Given the description of an element on the screen output the (x, y) to click on. 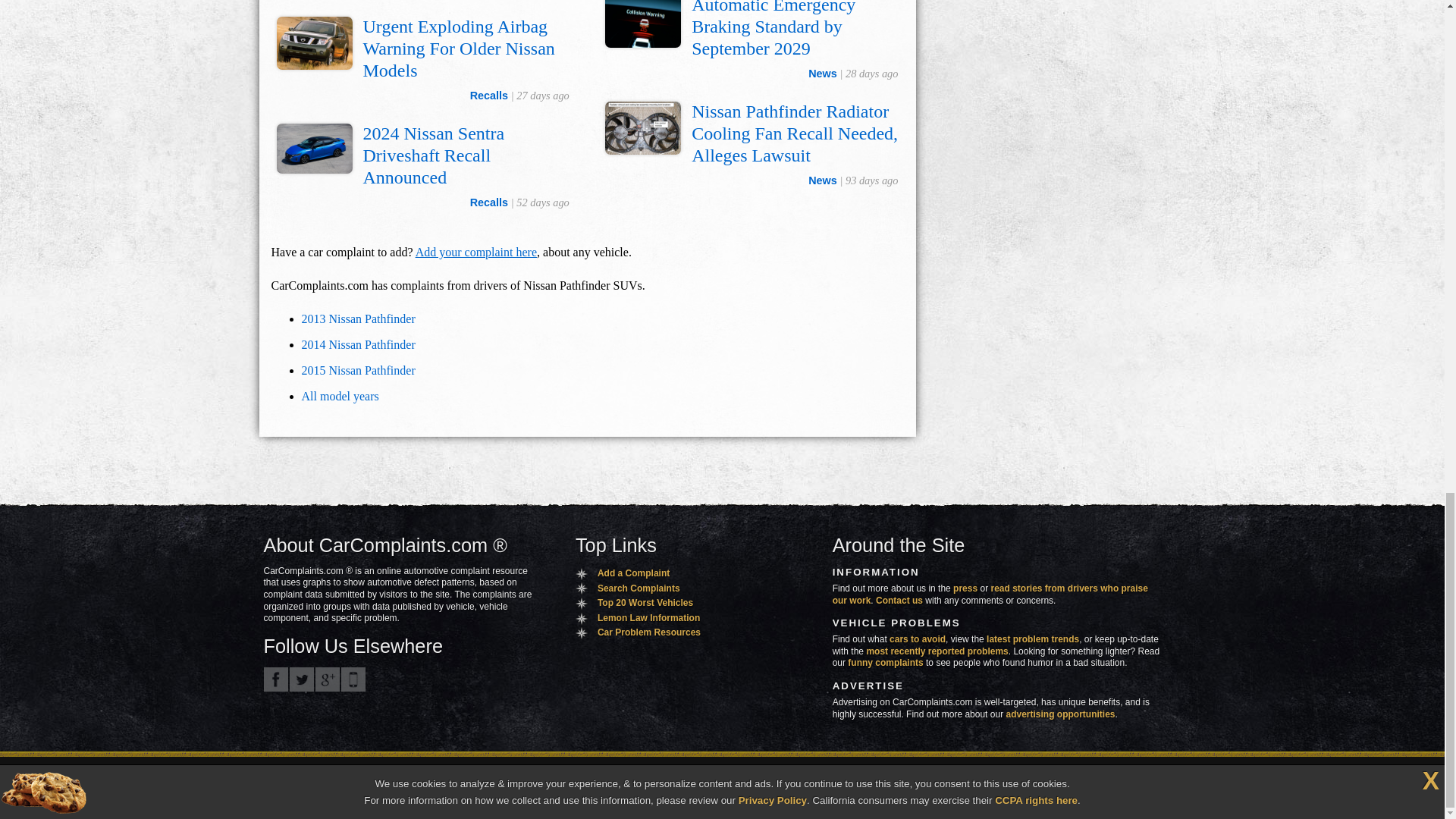
Urgent Exploding Airbag Warning For Older Nissan Models (458, 48)
News (822, 73)
Recalls (489, 202)
2024 Nissan Sentra Driveshaft Recall Announced (432, 155)
Recalls (489, 95)
Automatic Emergency Braking Standard by September 2029 (773, 29)
